Given the description of an element on the screen output the (x, y) to click on. 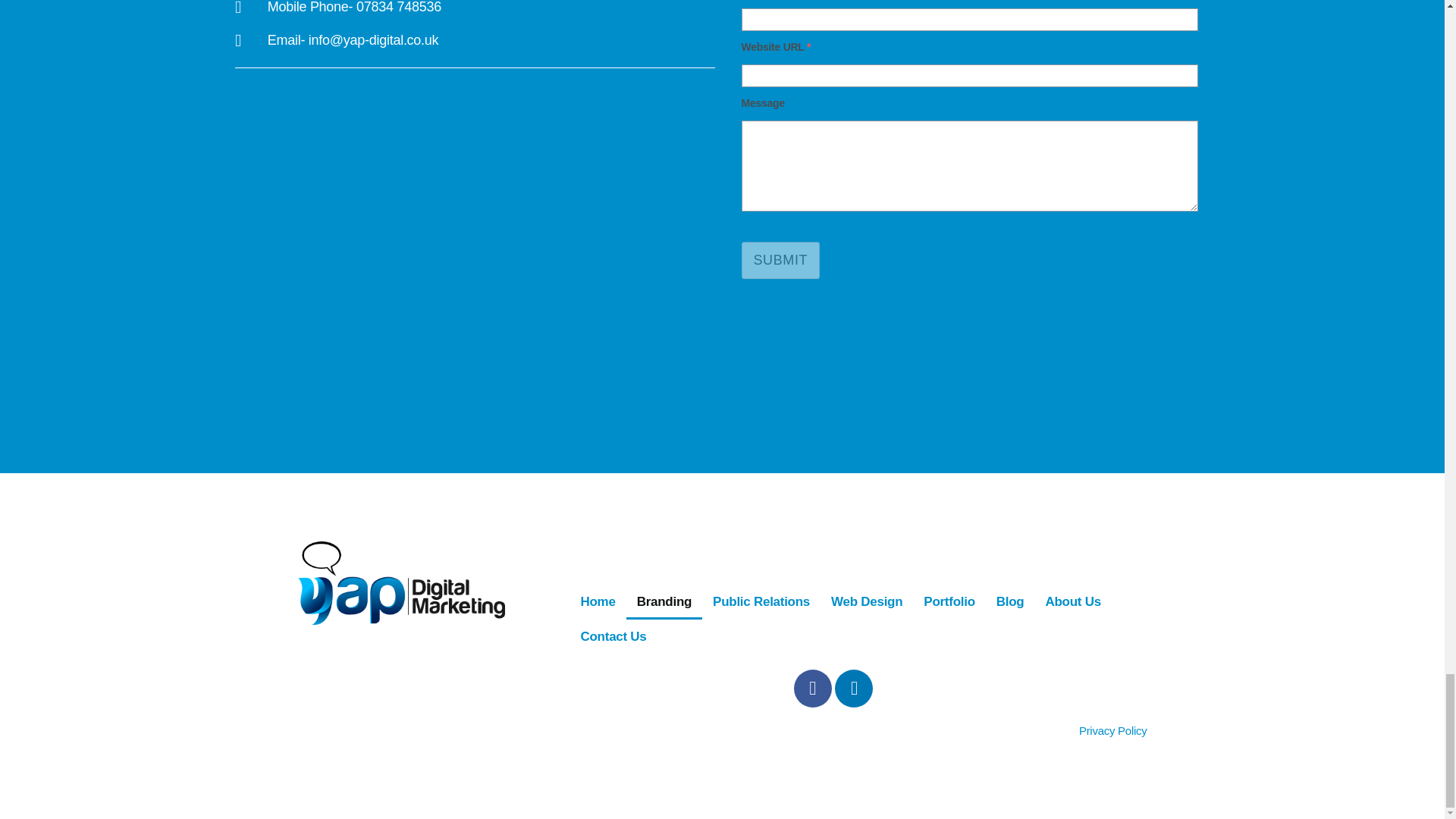
Home (598, 601)
Blog (1010, 601)
Portfolio (948, 601)
About Us (1071, 601)
Branding (663, 601)
Public Relations (761, 601)
SUBMIT (781, 260)
Web Design (866, 601)
Contact Us (614, 636)
Mobile Phone- 07834 748536 (474, 8)
